Given the description of an element on the screen output the (x, y) to click on. 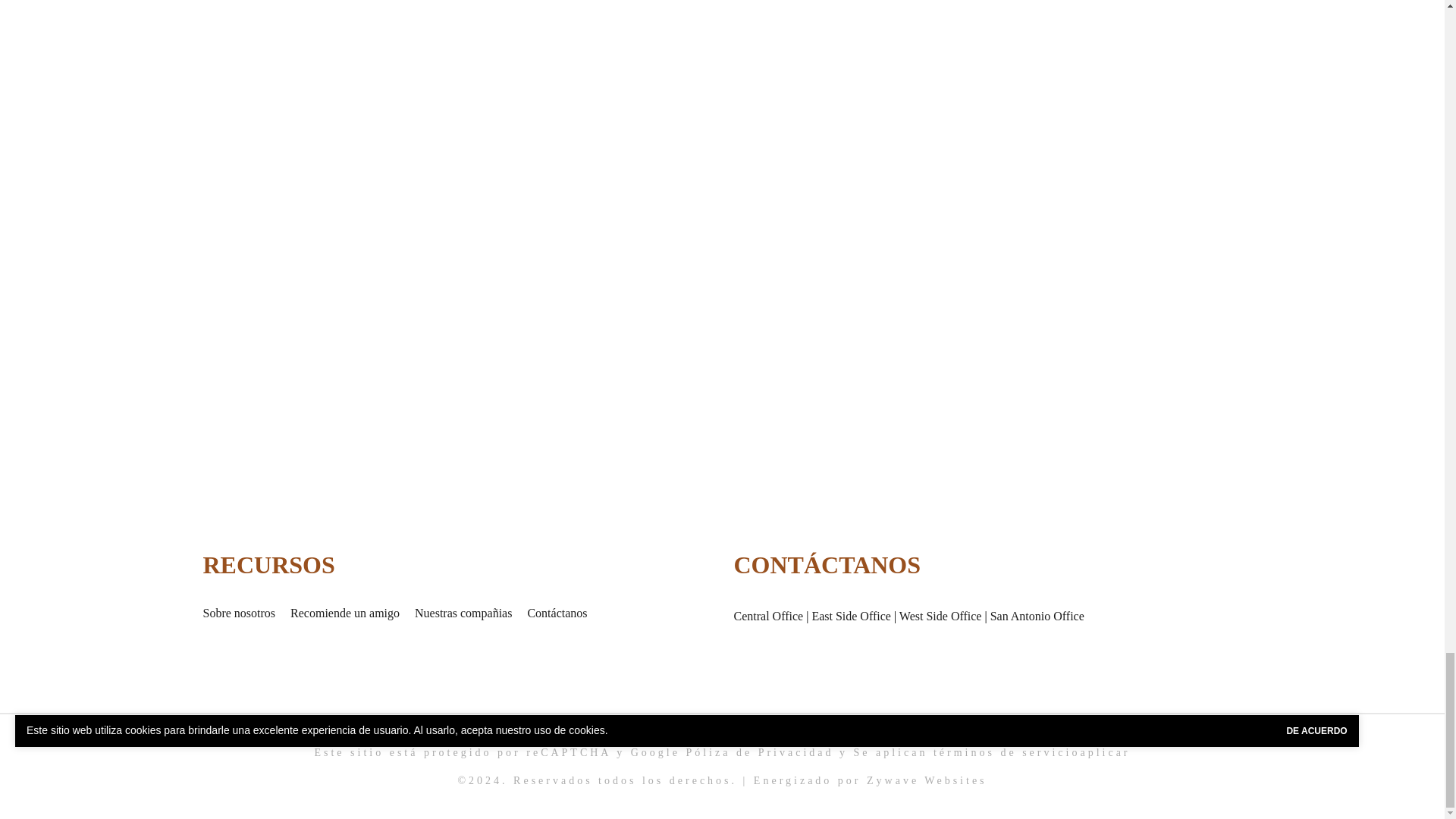
Insurance Website Builder (926, 780)
